Given the description of an element on the screen output the (x, y) to click on. 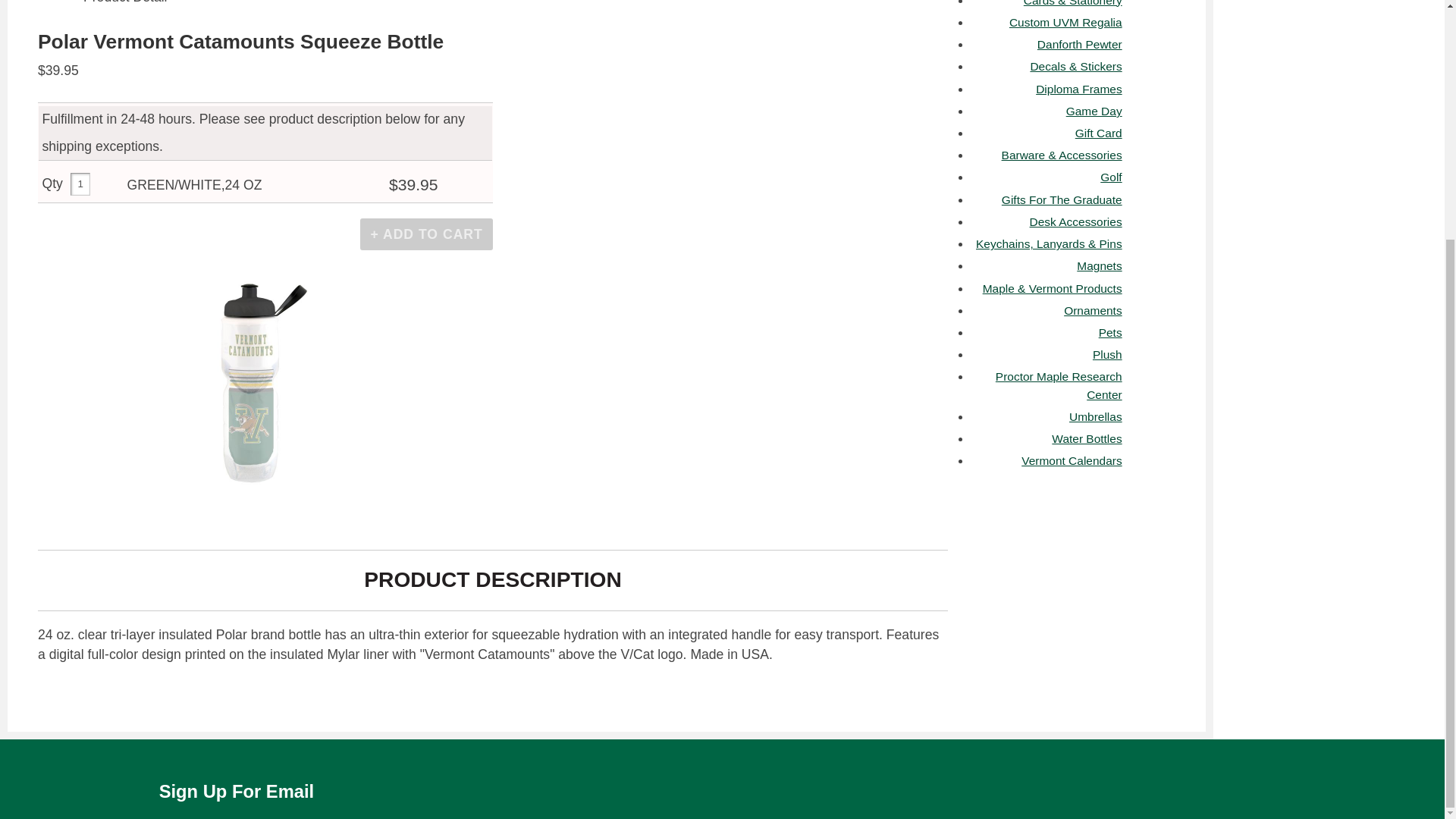
1 (79, 183)
Polar Vermont Catamounts Squeeze Bottle (251, 392)
